Given the description of an element on the screen output the (x, y) to click on. 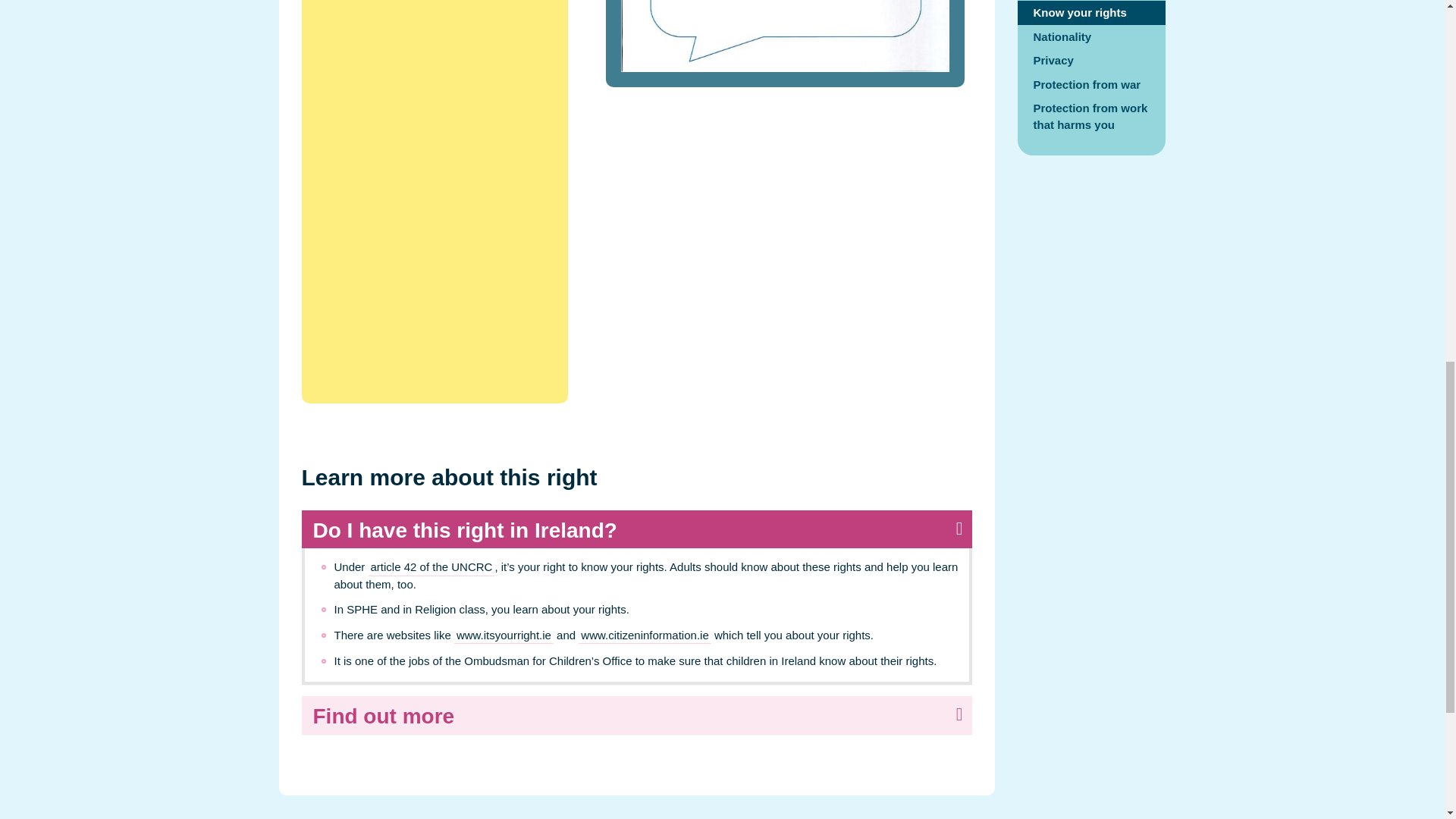
www.itsyourright.ie (503, 635)
Do I have this right in Ireland? (636, 529)
article 42 of the UNCRC (431, 566)
www.citizeninformation.ie (644, 635)
Find out more (636, 715)
